Given the description of an element on the screen output the (x, y) to click on. 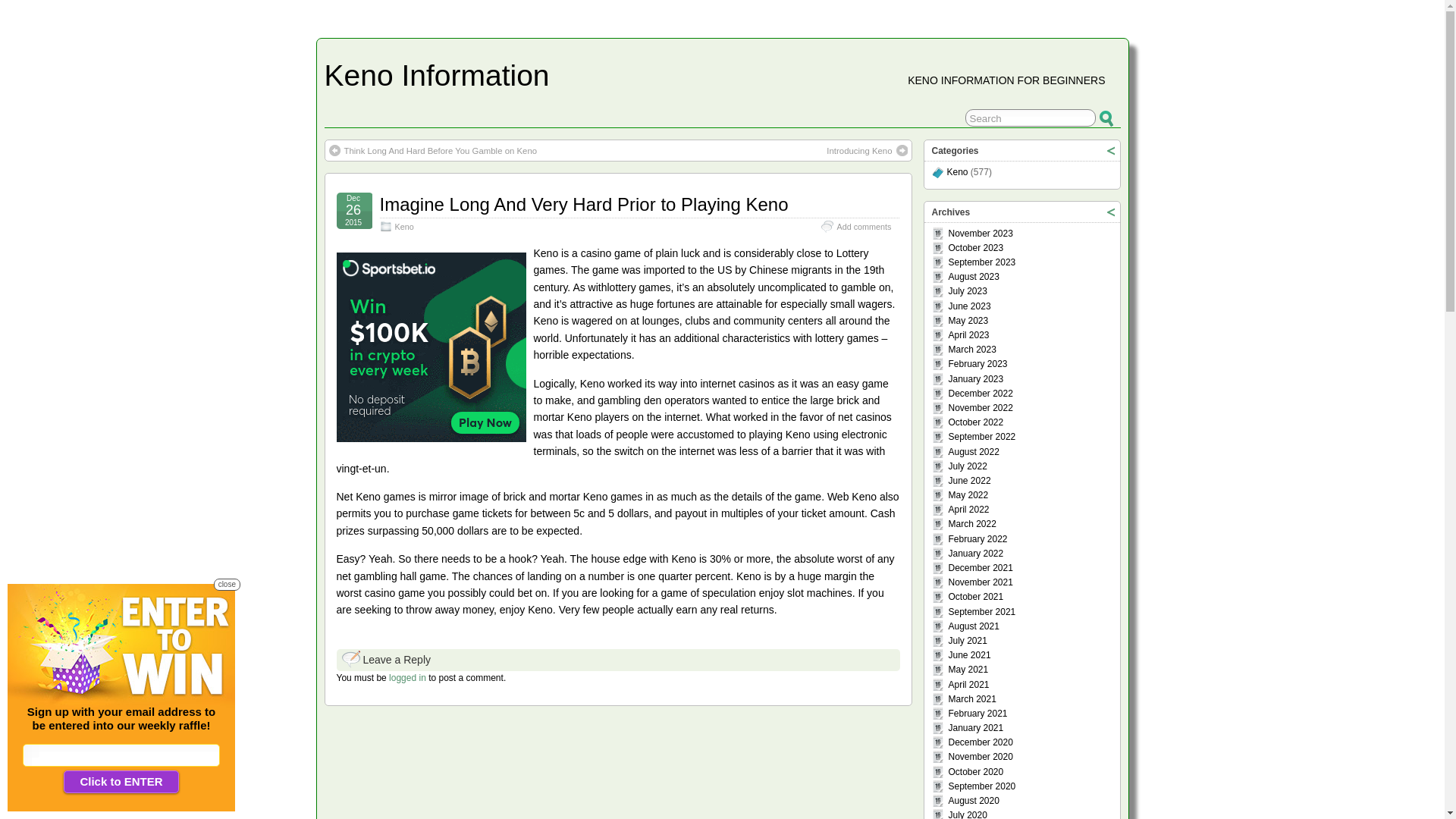
May 2023 Element type: text (967, 320)
Imagine Long And Very Hard Prior to Playing Keno Element type: text (583, 204)
November 2023 Element type: text (979, 233)
October 2022 Element type: text (975, 422)
September 2021 Element type: text (981, 611)
March 2023 Element type: text (971, 349)
August 2020 Element type: text (972, 800)
January 2022 Element type: text (975, 553)
August 2021 Element type: text (972, 626)
November 2022 Element type: text (979, 407)
  Element type: text (1109, 149)
Go Element type: text (1107, 118)
August 2022 Element type: text (972, 450)
February 2021 Element type: text (977, 713)
Think Long And Hard Before You Gamble on Keno Element type: text (433, 150)
Keno Element type: text (403, 226)
March 2021 Element type: text (971, 698)
click to close this box Element type: hover (1109, 211)
September 2023 Element type: text (981, 262)
January 2023 Element type: text (975, 378)
Add comments Element type: text (863, 226)
Click to ENTER Element type: text (120, 781)
  Element type: text (1109, 211)
December 2020 Element type: text (979, 742)
April 2023 Element type: text (967, 334)
February 2022 Element type: text (977, 538)
February 2023 Element type: text (977, 363)
July 2023 Element type: text (966, 290)
logged in Element type: text (407, 677)
October 2021 Element type: text (975, 596)
June 2022 Element type: text (968, 480)
November 2021 Element type: text (979, 582)
January 2021 Element type: text (975, 727)
Keno Element type: text (956, 171)
June 2023 Element type: text (968, 306)
December 2022 Element type: text (979, 393)
March 2022 Element type: text (971, 523)
Introducing Keno Element type: text (866, 150)
November 2020 Element type: text (979, 756)
April 2022 Element type: text (967, 509)
May 2021 Element type: text (967, 669)
October 2020 Element type: text (975, 771)
December 2021 Element type: text (979, 567)
click to close this box Element type: hover (1109, 149)
August 2023 Element type: text (972, 276)
Keno Information Element type: text (436, 75)
September 2022 Element type: text (981, 436)
July 2021 Element type: text (966, 640)
October 2023 Element type: text (975, 247)
April 2021 Element type: text (967, 684)
July 2022 Element type: text (966, 466)
May 2022 Element type: text (967, 494)
June 2021 Element type: text (968, 654)
September 2020 Element type: text (981, 786)
